Given the description of an element on the screen output the (x, y) to click on. 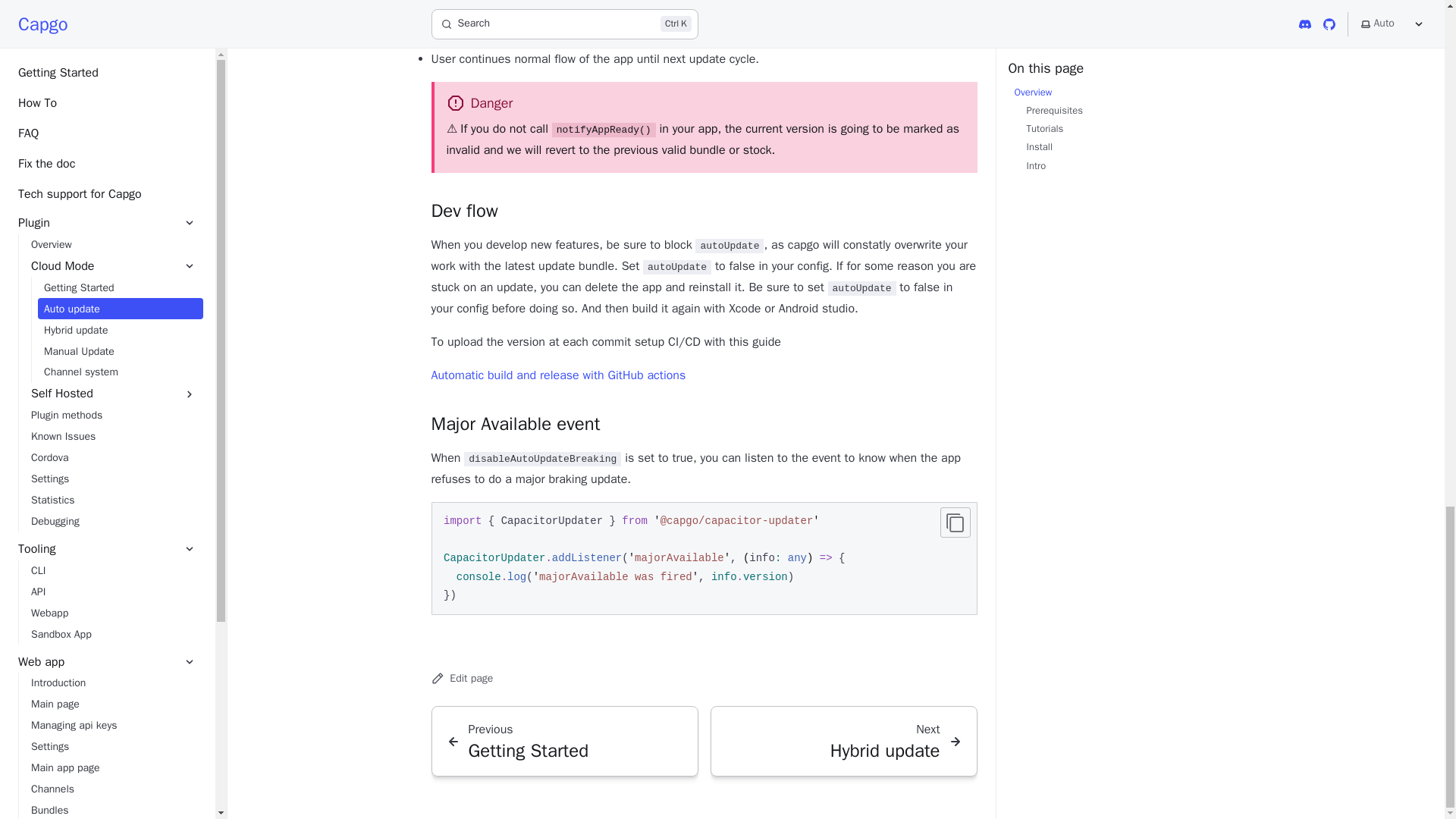
Copy to clipboard (955, 521)
